Given the description of an element on the screen output the (x, y) to click on. 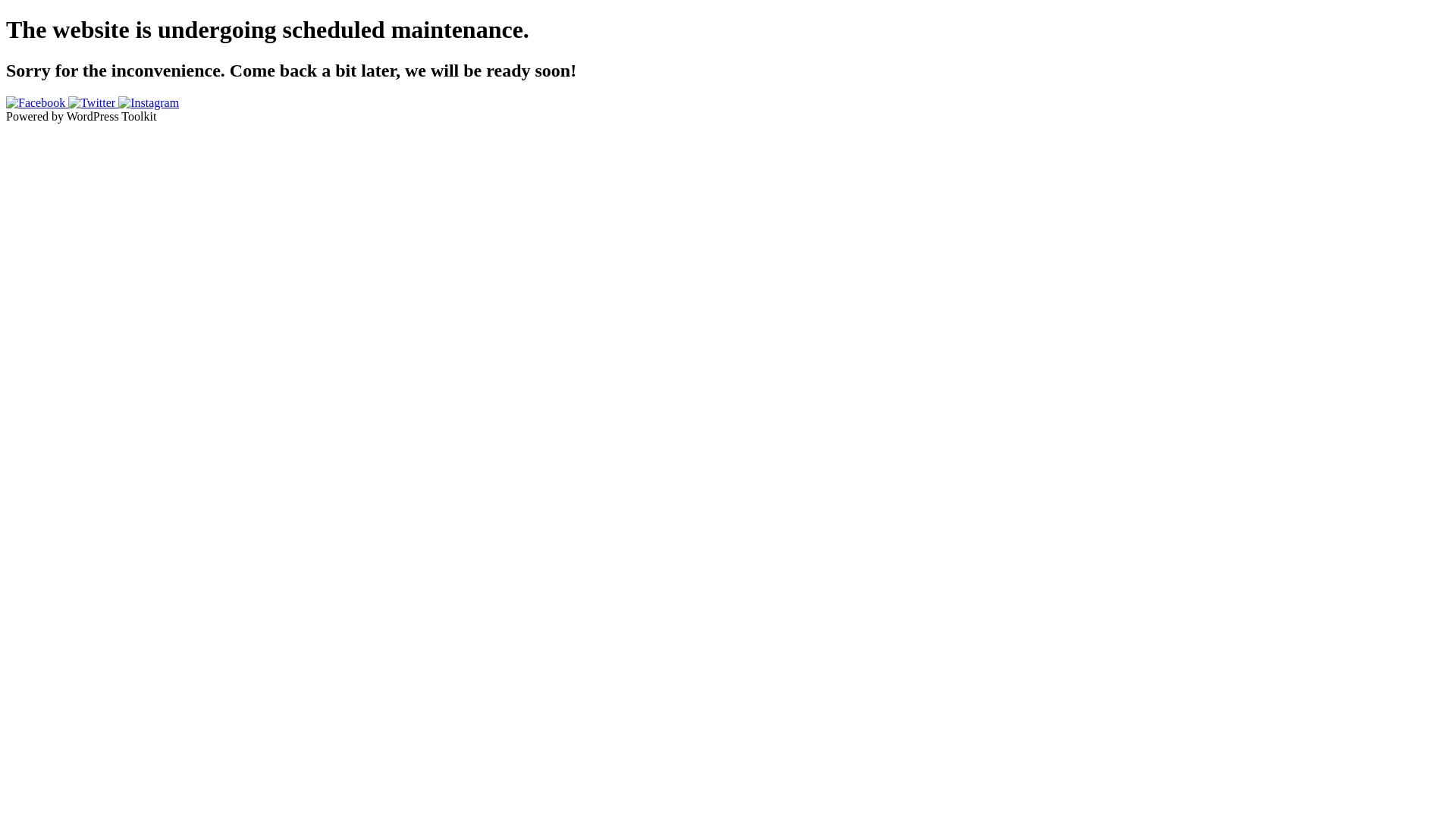
Twitter Element type: hover (93, 102)
Instagram Element type: hover (148, 102)
Facebook Element type: hover (37, 102)
